Given the description of an element on the screen output the (x, y) to click on. 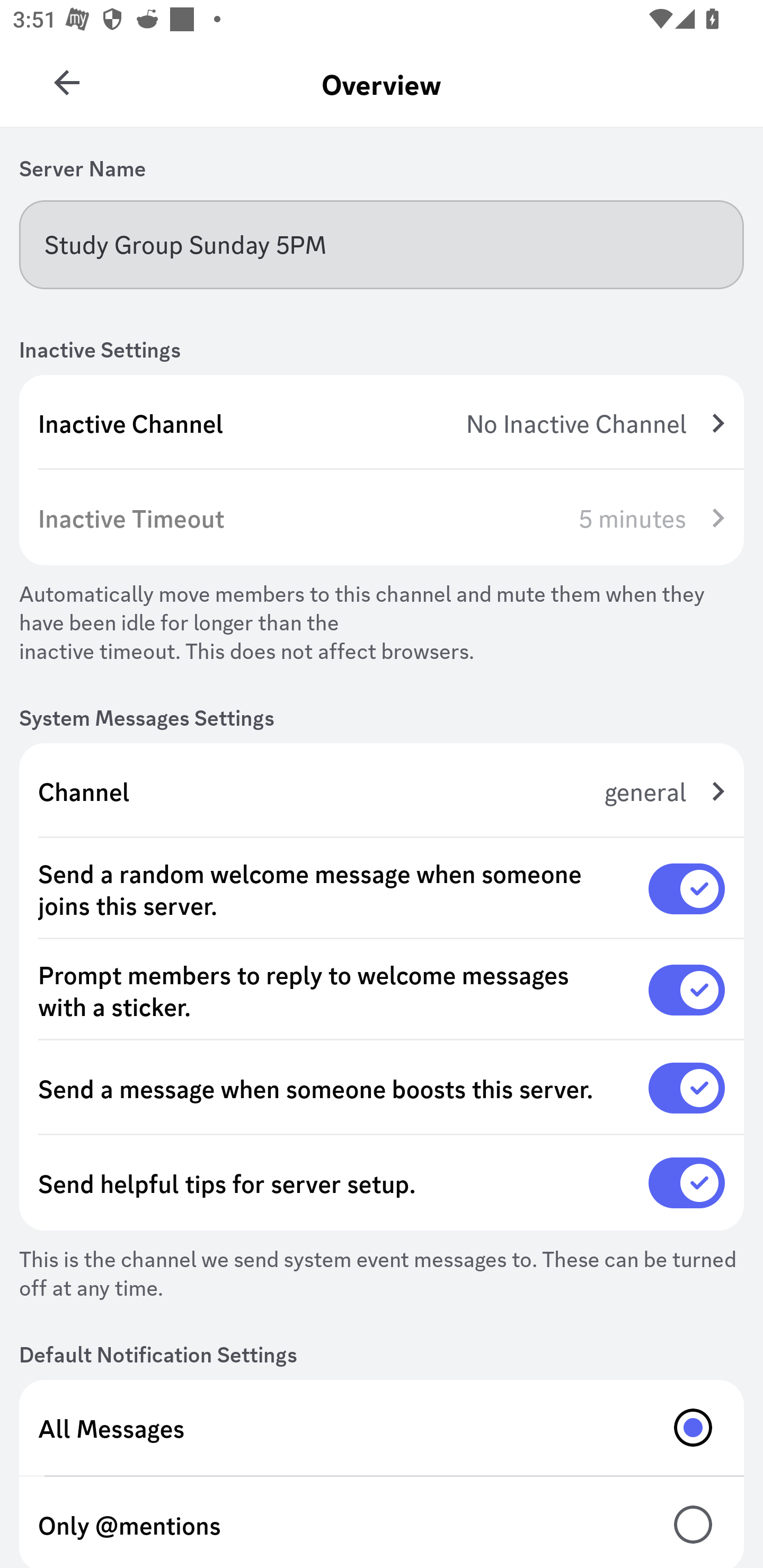
  Study Group SG (66, 75)
Study Group Sunday 5PM (381, 244)
Channel, general Channel general (381, 790)
on (686, 888)
on (686, 990)
on (686, 1088)
on (686, 1182)
All Messages (381, 1427)
Only @mentions (381, 1522)
